Given the description of an element on the screen output the (x, y) to click on. 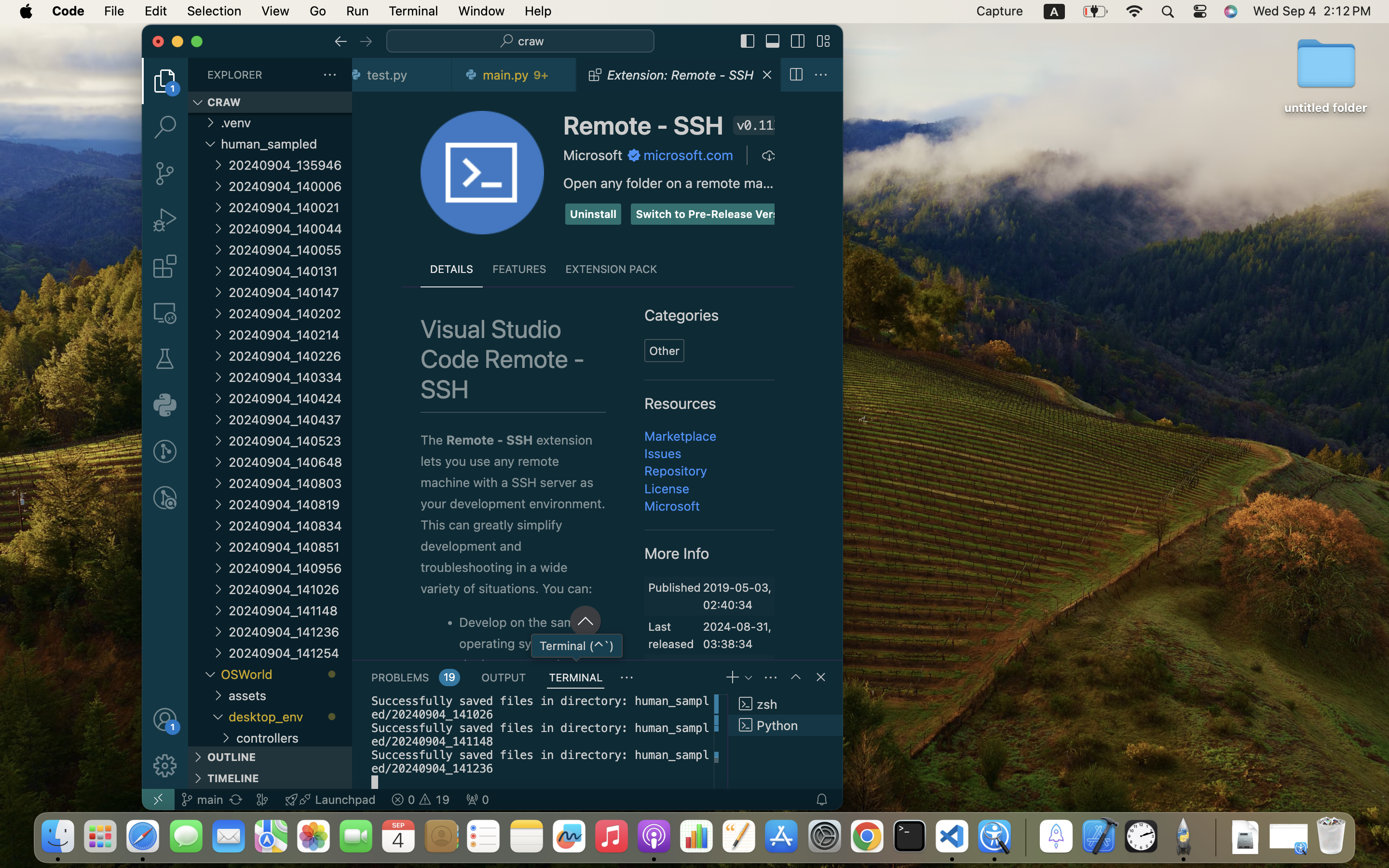
 Element type: AXStaticText (820, 74)
Microsoft Element type: AXStaticText (593, 154)
The Element type: AXStaticText (433, 440)
Repository Element type: AXStaticText (676, 470)
20240904_140523 Element type: AXGroup (290, 440)
